Given the description of an element on the screen output the (x, y) to click on. 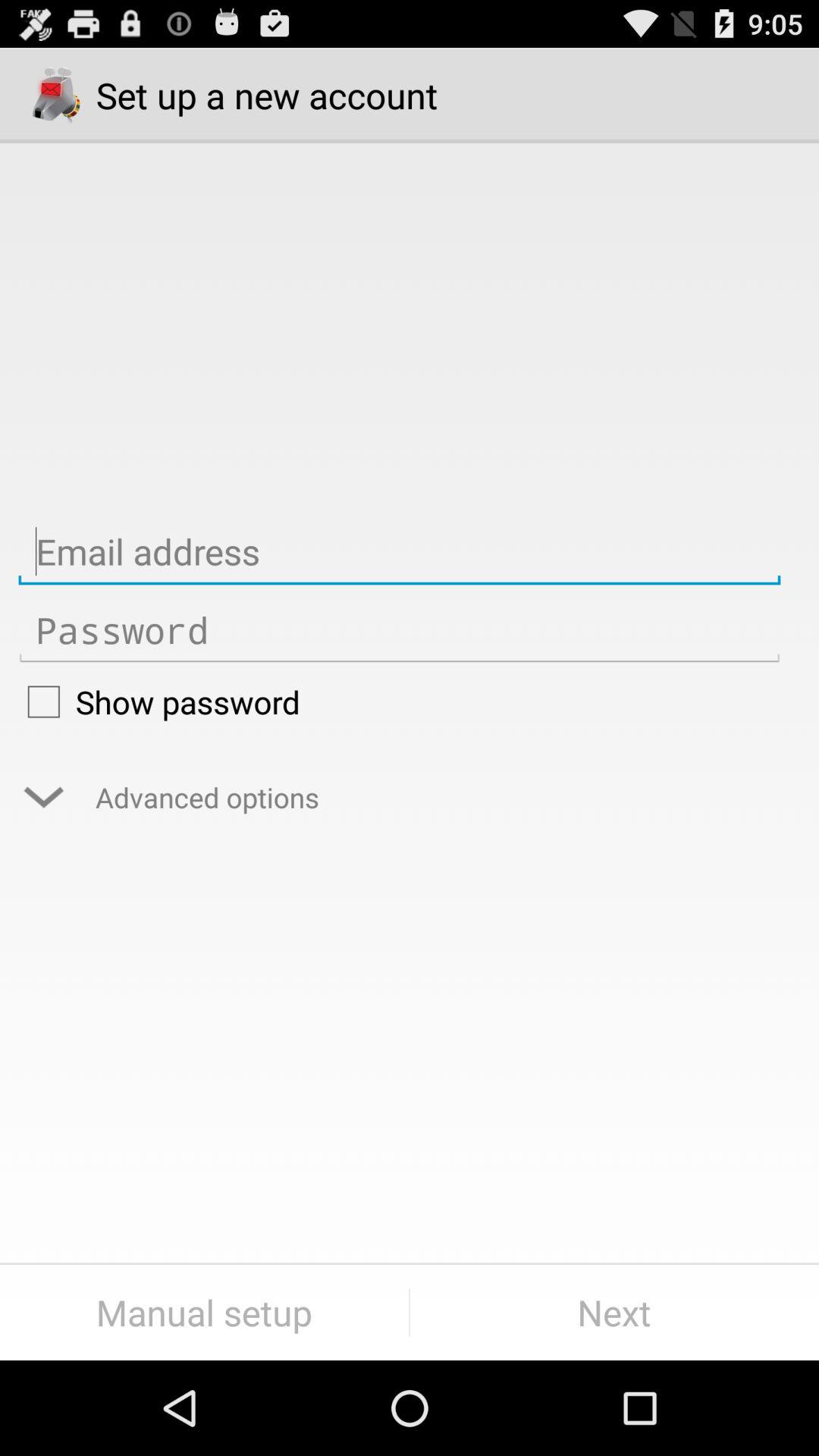
tap button next to manual setup button (614, 1312)
